Given the description of an element on the screen output the (x, y) to click on. 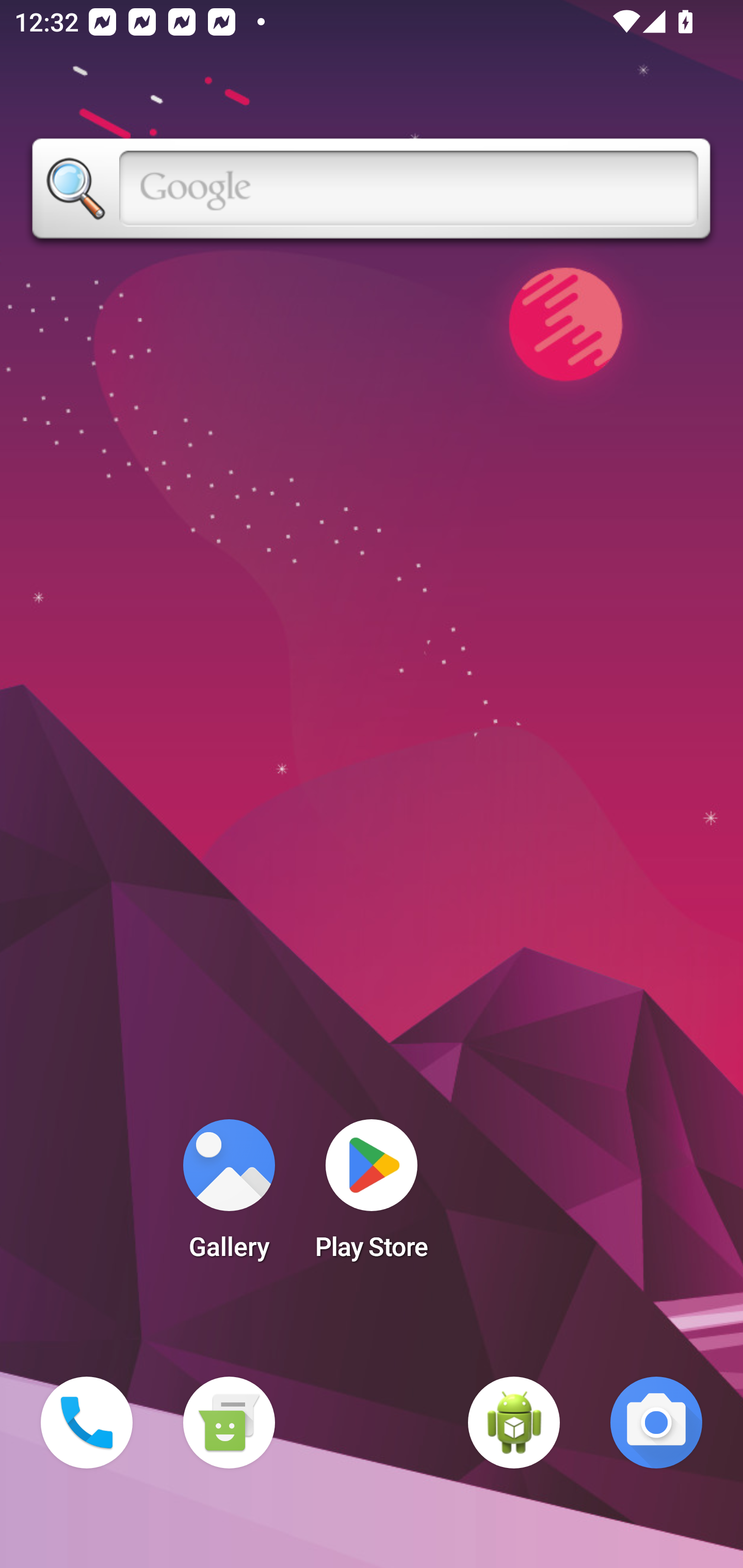
Gallery (228, 1195)
Play Store (371, 1195)
Phone (86, 1422)
Messaging (228, 1422)
WebView Browser Tester (513, 1422)
Camera (656, 1422)
